Given the description of an element on the screen output the (x, y) to click on. 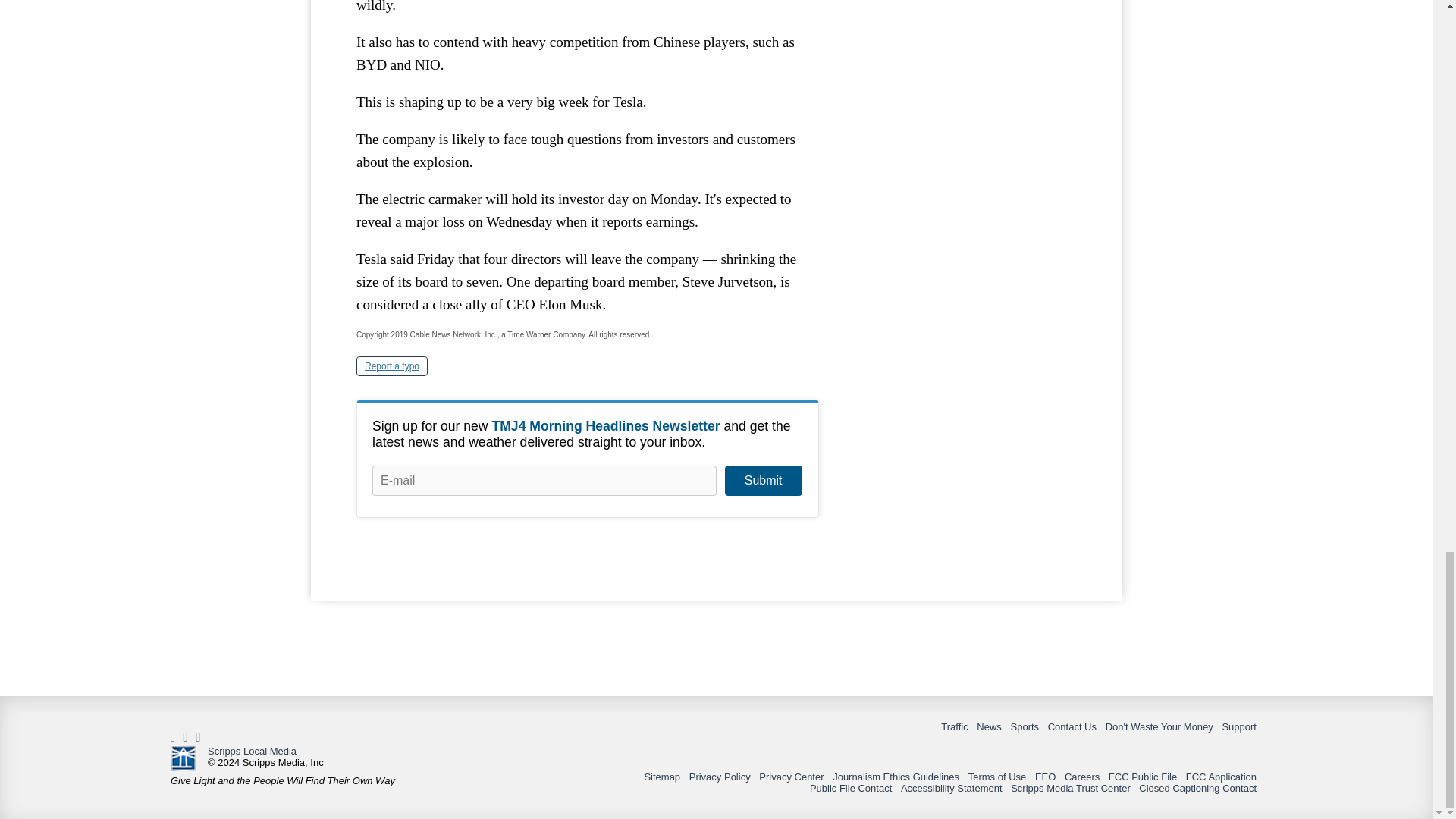
Submit (763, 481)
